Given the description of an element on the screen output the (x, y) to click on. 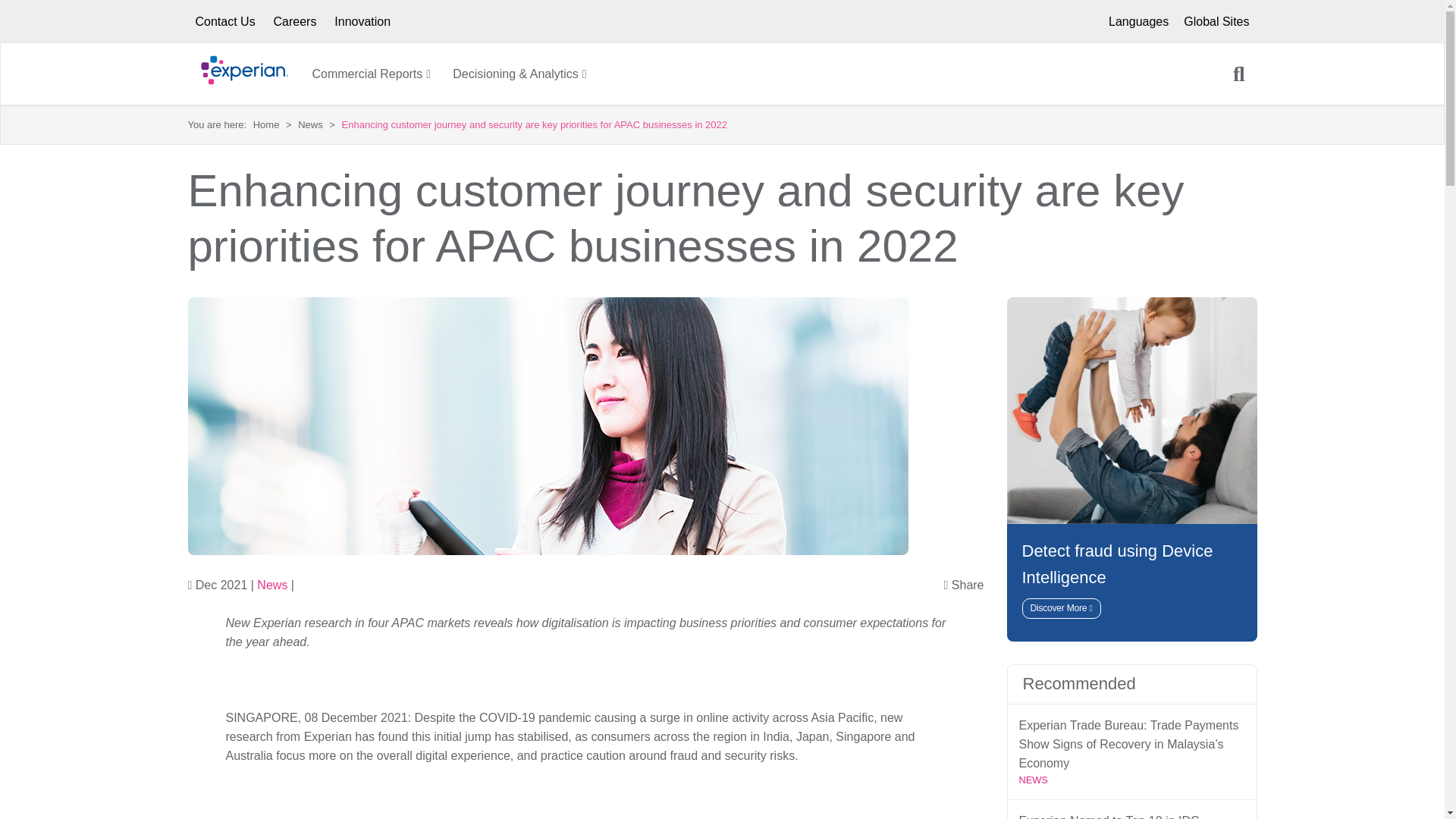
Contact Us (225, 21)
Careers (295, 21)
Innovation (362, 21)
See more posts in this category (271, 584)
Languages (1138, 21)
See other Experian Sites (1216, 21)
Global Sites (1216, 21)
Commercial Reports (368, 73)
See other Experian Sites (1138, 21)
Back to Latest Thinking Hub home page (249, 73)
